Given the description of an element on the screen output the (x, y) to click on. 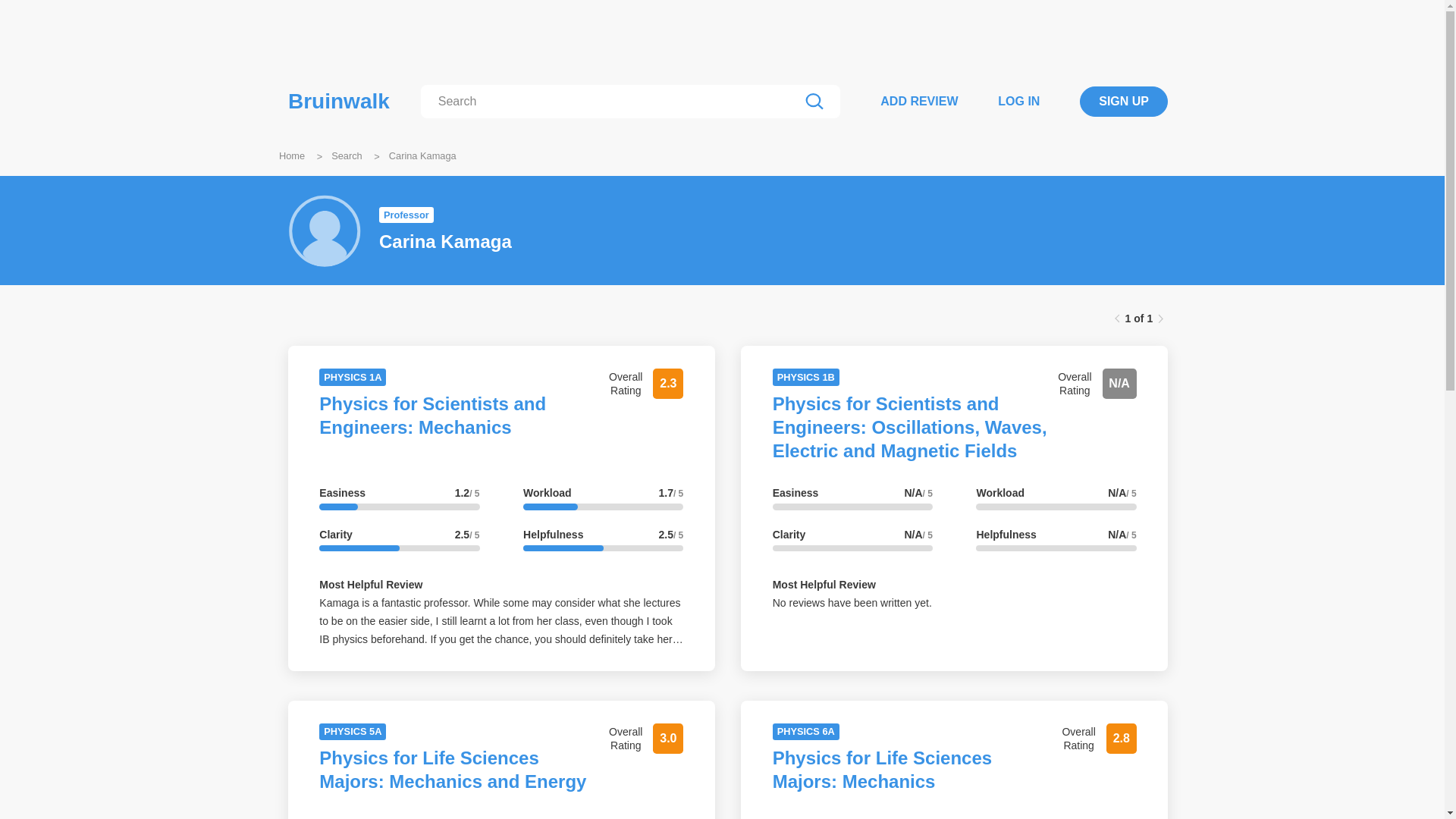
LOG IN (1018, 101)
Most Helpful Review (824, 584)
Physics for Scientists and Engineers: Mechanics (432, 415)
Physics for Life Sciences Majors: Mechanics (882, 769)
No reviews have been written yet. (852, 603)
PHYSICS 1B (806, 377)
Physics for Life Sciences Majors: Mechanics and Energy (452, 769)
Home (291, 155)
ADD REVIEW (919, 101)
